Given the description of an element on the screen output the (x, y) to click on. 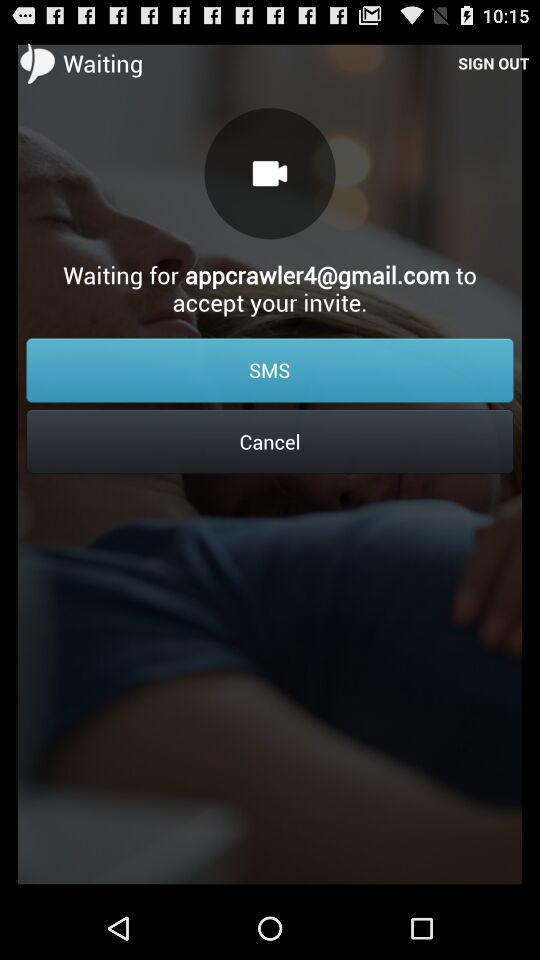
press the icon below the waiting for appcrawler4 icon (269, 369)
